Given the description of an element on the screen output the (x, y) to click on. 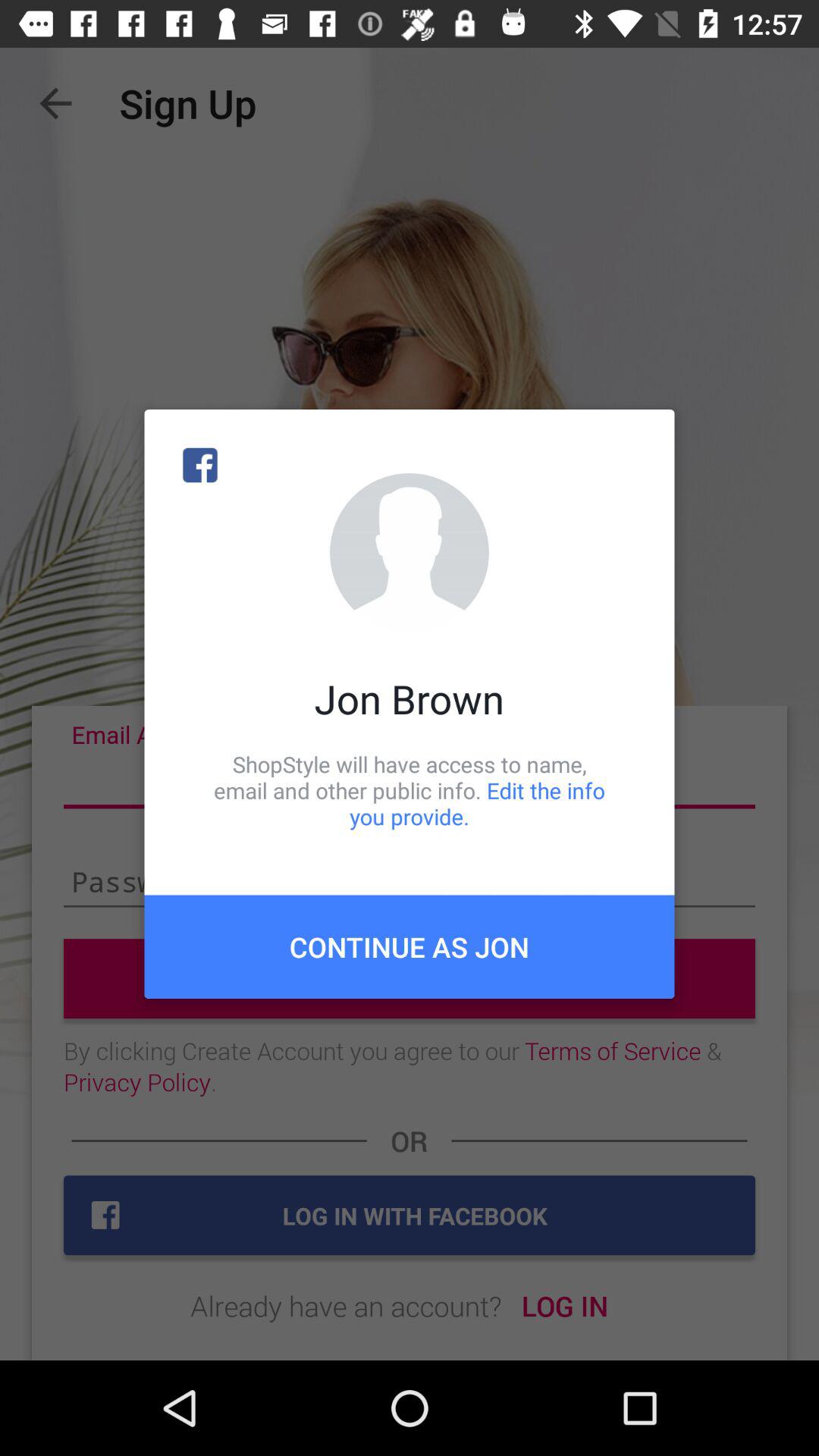
scroll until continue as jon (409, 946)
